Given the description of an element on the screen output the (x, y) to click on. 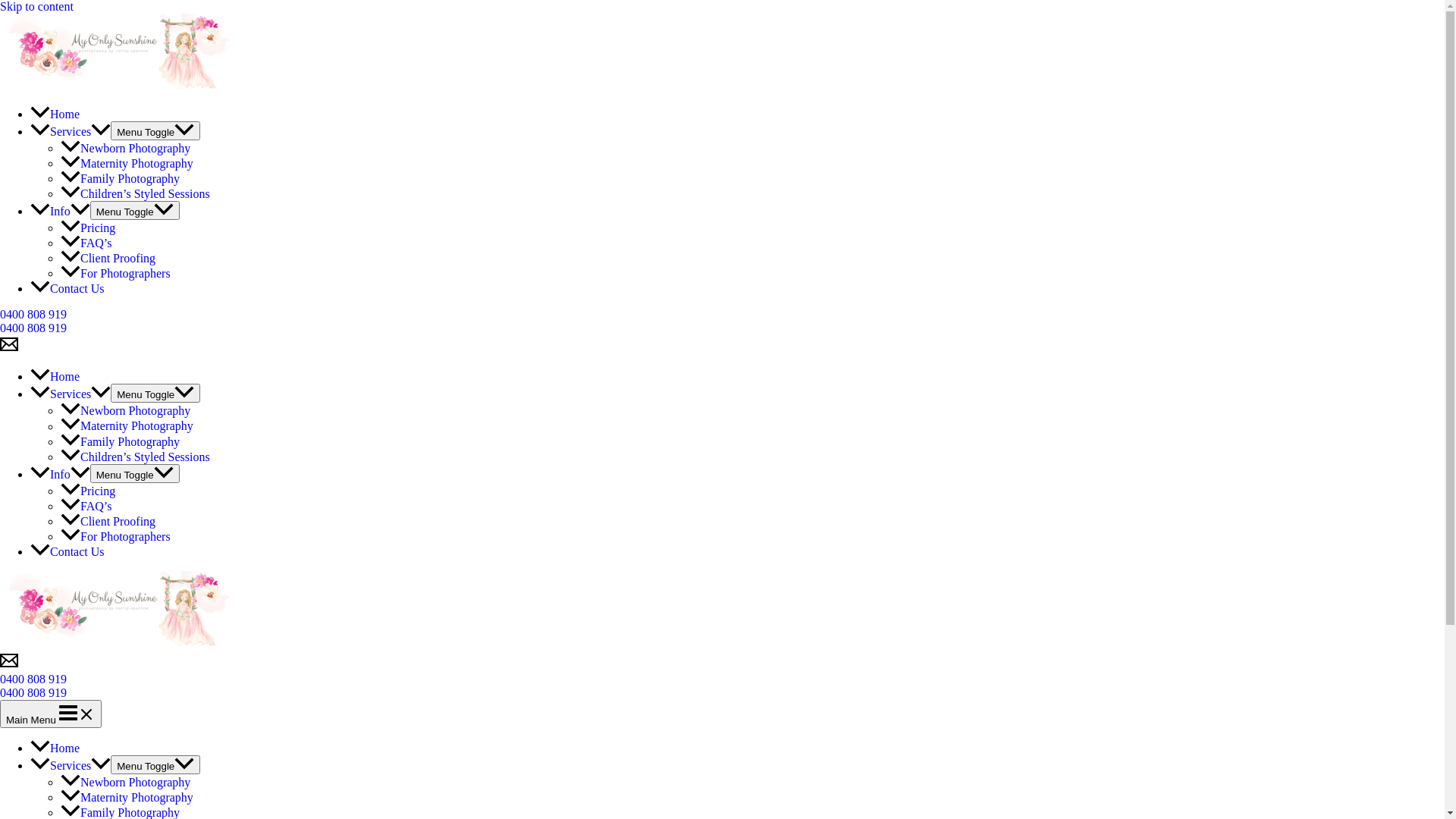
0400 808 919 Element type: text (722, 320)
Maternity Photography Element type: text (126, 426)
0400 808 919 Element type: text (33, 327)
For Photographers Element type: text (115, 536)
0400 808 919 Element type: text (33, 692)
Contact Us Element type: text (67, 288)
Client Proofing Element type: text (107, 520)
Main Menu Element type: text (50, 713)
Home Element type: text (54, 376)
Menu Toggle Element type: text (155, 764)
Home Element type: text (54, 113)
Info Element type: text (60, 473)
Menu Toggle Element type: text (134, 473)
Pricing Element type: text (87, 227)
Newborn Photography Element type: text (125, 781)
Maternity Photography Element type: text (126, 796)
Email Element type: text (9, 348)
Maternity Photography Element type: text (126, 162)
Pricing Element type: text (87, 490)
Newborn Photography Element type: text (125, 410)
Family Photography Element type: text (119, 441)
Skip to content Element type: text (36, 6)
Menu Toggle Element type: text (155, 392)
Menu Toggle Element type: text (134, 209)
Menu Toggle Element type: text (155, 130)
Newborn Photography Element type: text (125, 147)
Home Element type: text (54, 747)
0400 808 919 Element type: text (722, 685)
For Photographers Element type: text (115, 272)
Info Element type: text (60, 210)
Services Element type: text (70, 131)
Client Proofing Element type: text (107, 257)
Contact Us Element type: text (67, 551)
Family Photography Element type: text (119, 178)
Email Element type: text (9, 664)
Services Element type: text (70, 765)
Services Element type: text (70, 393)
